Given the description of an element on the screen output the (x, y) to click on. 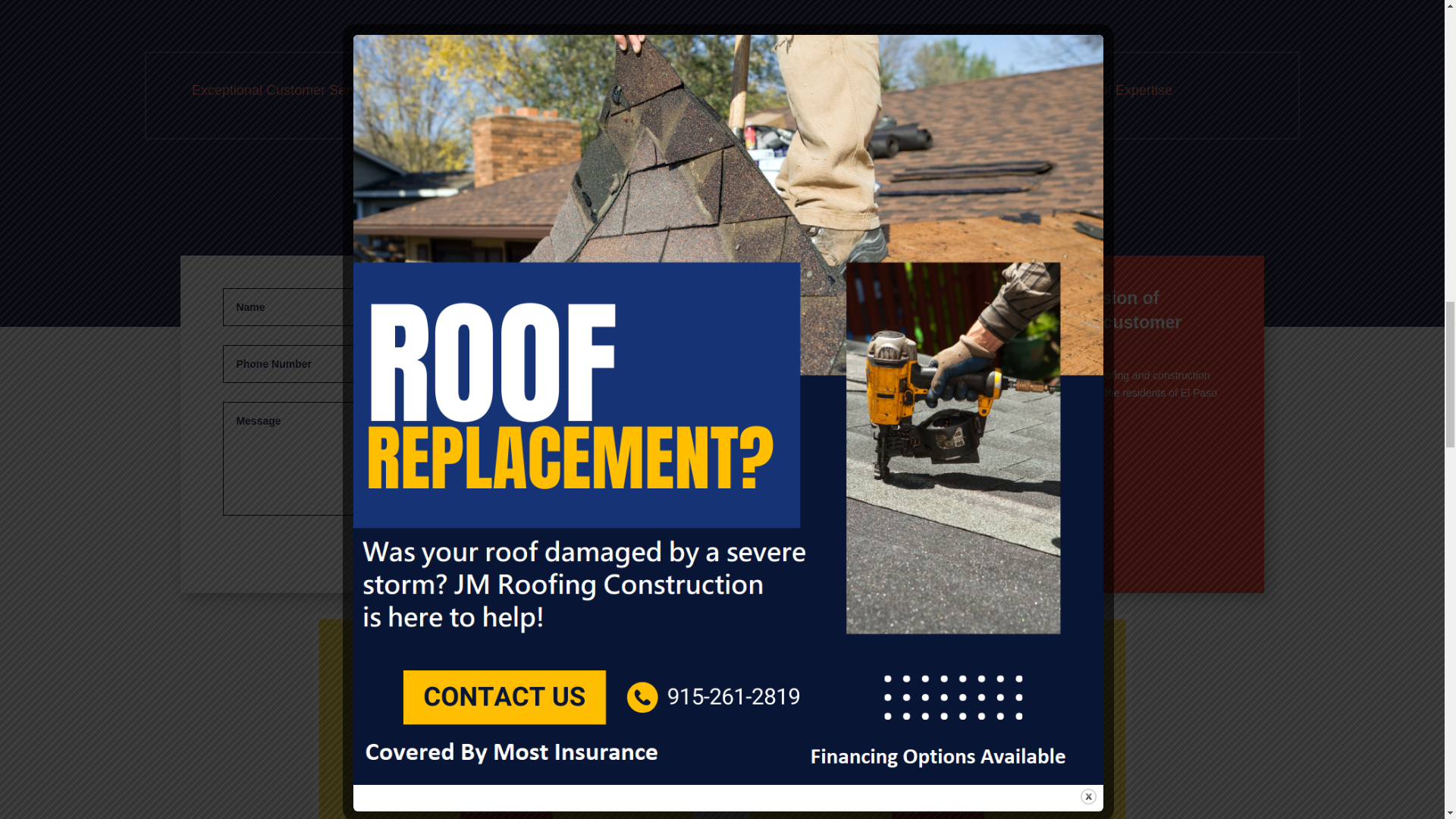
Only numbers allowed. (372, 363)
